Given the description of an element on the screen output the (x, y) to click on. 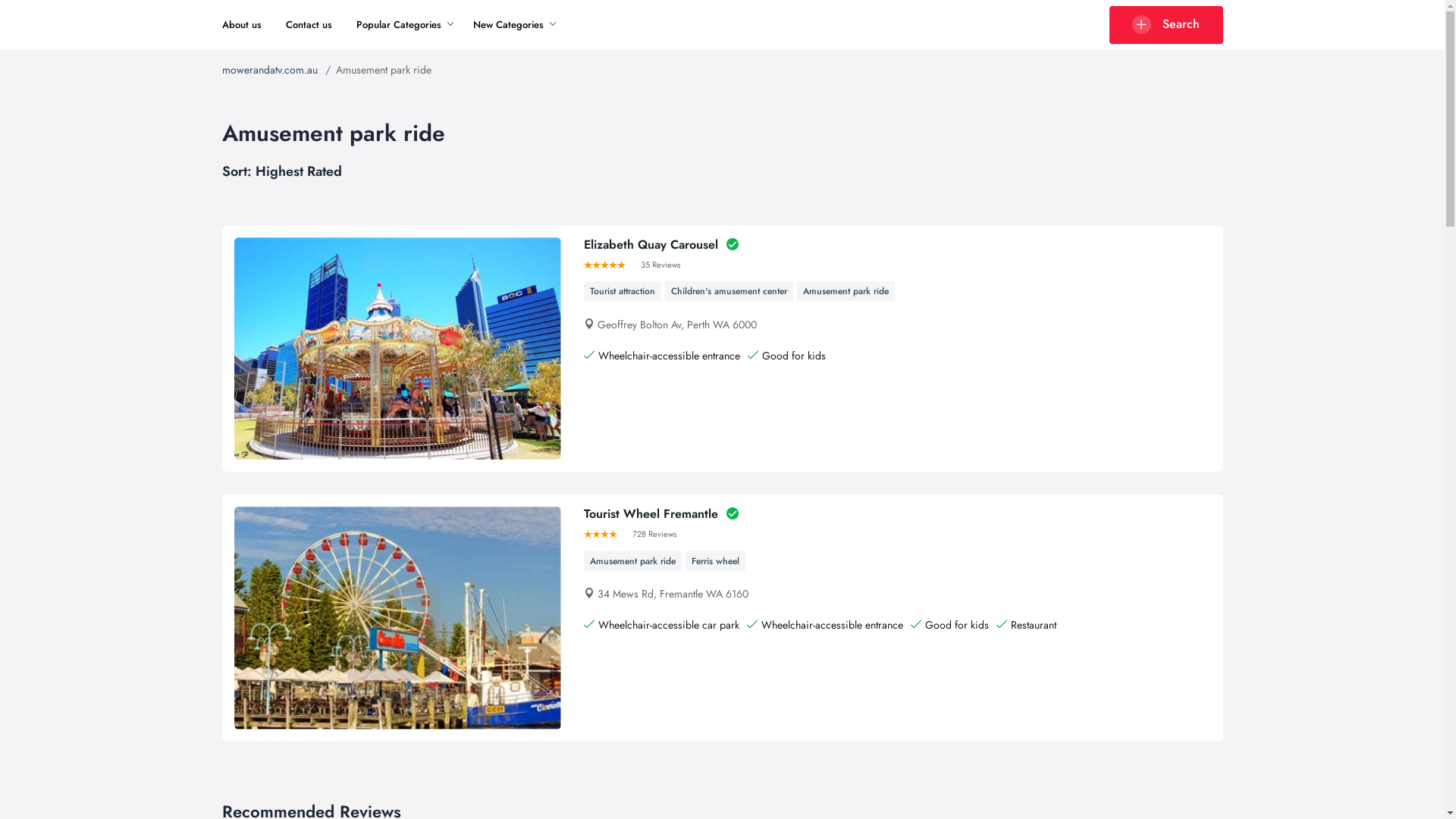
Ferris wheel Element type: text (715, 561)
Search Element type: text (1165, 24)
Children's amusement center Element type: text (729, 291)
Tourist attraction Element type: text (622, 291)
Contact us Element type: text (308, 24)
Popular Categories Element type: text (398, 24)
About us Element type: text (240, 24)
New Categories Element type: text (508, 24)
mowerandatv.com.au Element type: text (268, 69)
Amusement park ride Element type: text (845, 291)
Amusement park ride Element type: text (632, 561)
Elizabeth Quay Carousel Element type: text (660, 244)
Tourist Wheel Fremantle Element type: text (660, 513)
